Given the description of an element on the screen output the (x, y) to click on. 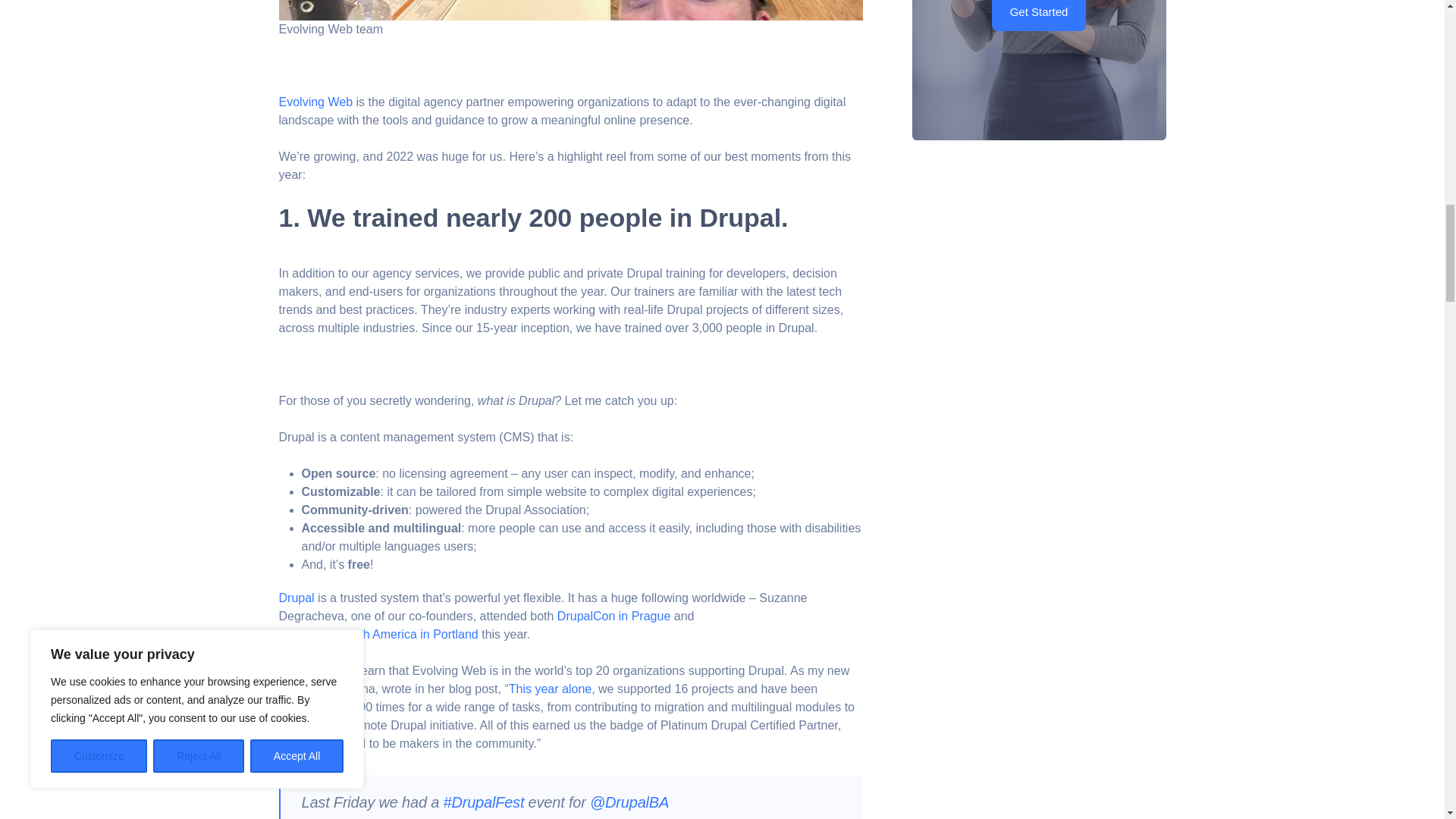
This year alone (549, 689)
DrupalCon North America in Portland (379, 634)
DrupalCon in Prague (613, 616)
Evolving Web (316, 102)
Drupal (296, 597)
